Given the description of an element on the screen output the (x, y) to click on. 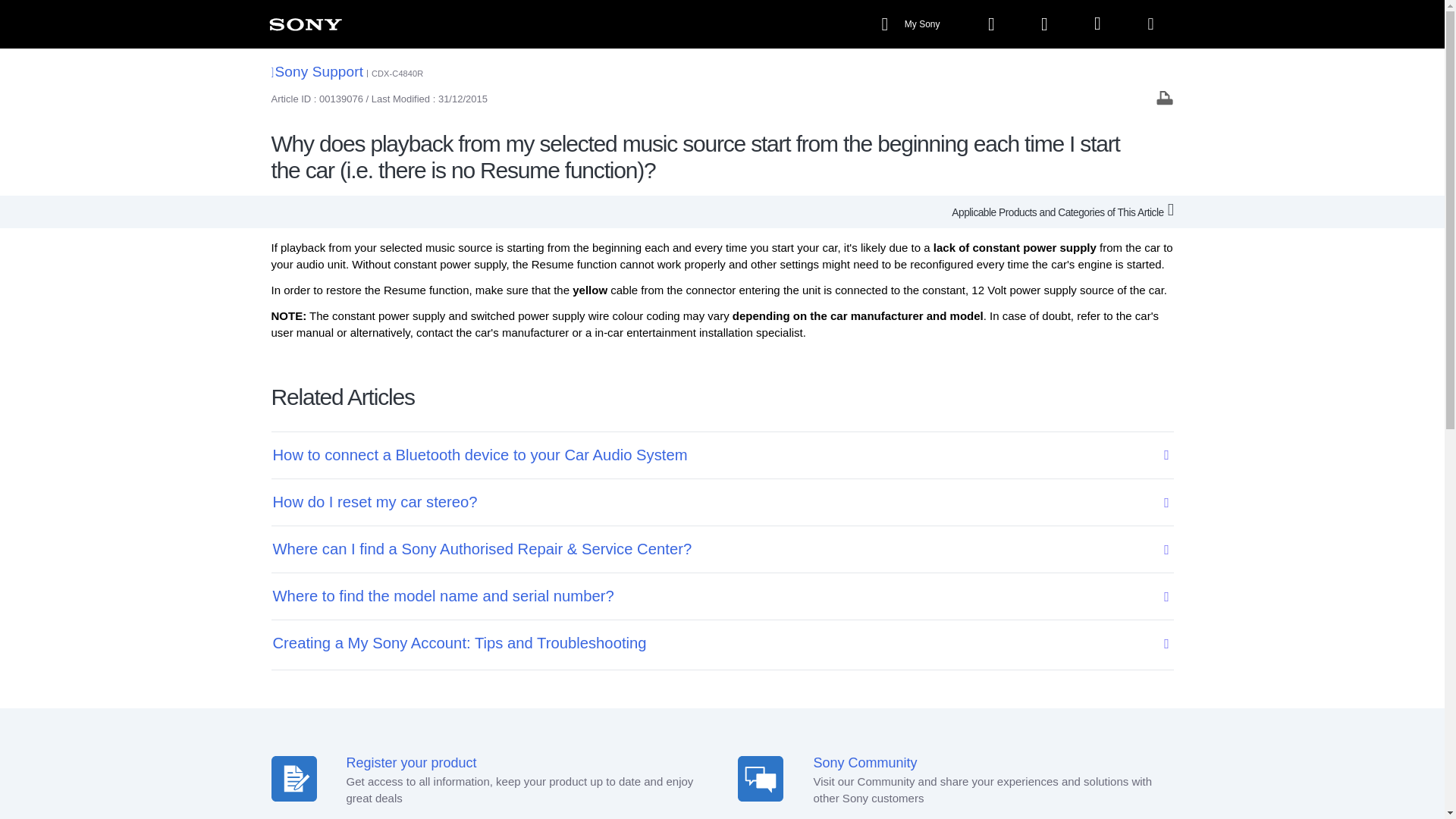
Print (1164, 97)
My Sony (912, 24)
